Given the description of an element on the screen output the (x, y) to click on. 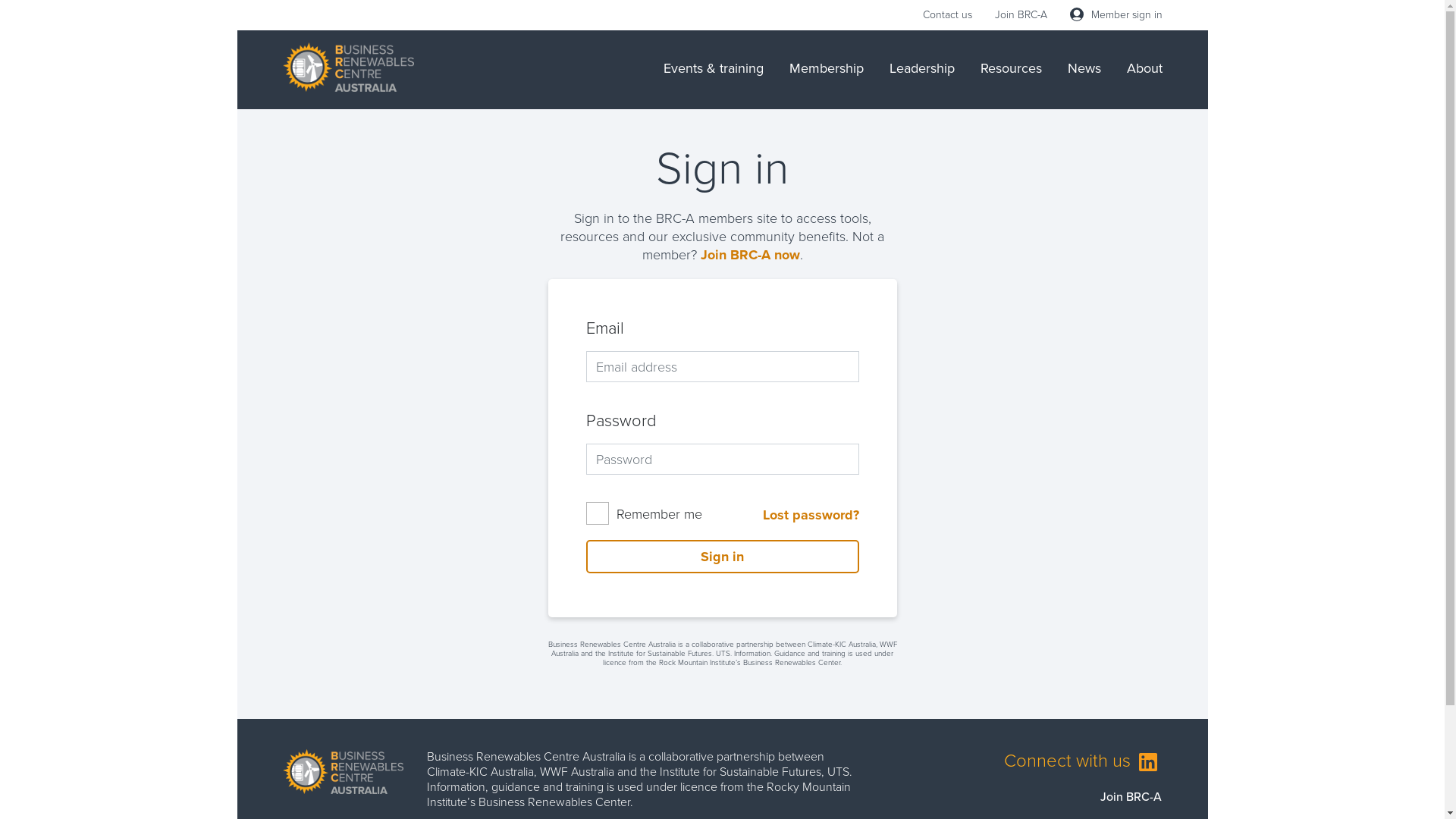
Events & training Element type: text (712, 68)
Lost password? Element type: text (810, 514)
Membership Element type: text (825, 68)
Join BRC-A now Element type: text (750, 254)
News Element type: text (1084, 68)
Connect with us    Element type: text (1082, 760)
Join BRC-A Element type: text (1020, 14)
Sign in Element type: text (721, 556)
Leadership Element type: text (920, 68)
Member sign in Element type: text (1115, 15)
Contact us Element type: text (946, 14)
Join BRC-A Element type: text (1130, 796)
About Element type: text (1144, 68)
Resources Element type: text (1010, 68)
